Given the description of an element on the screen output the (x, y) to click on. 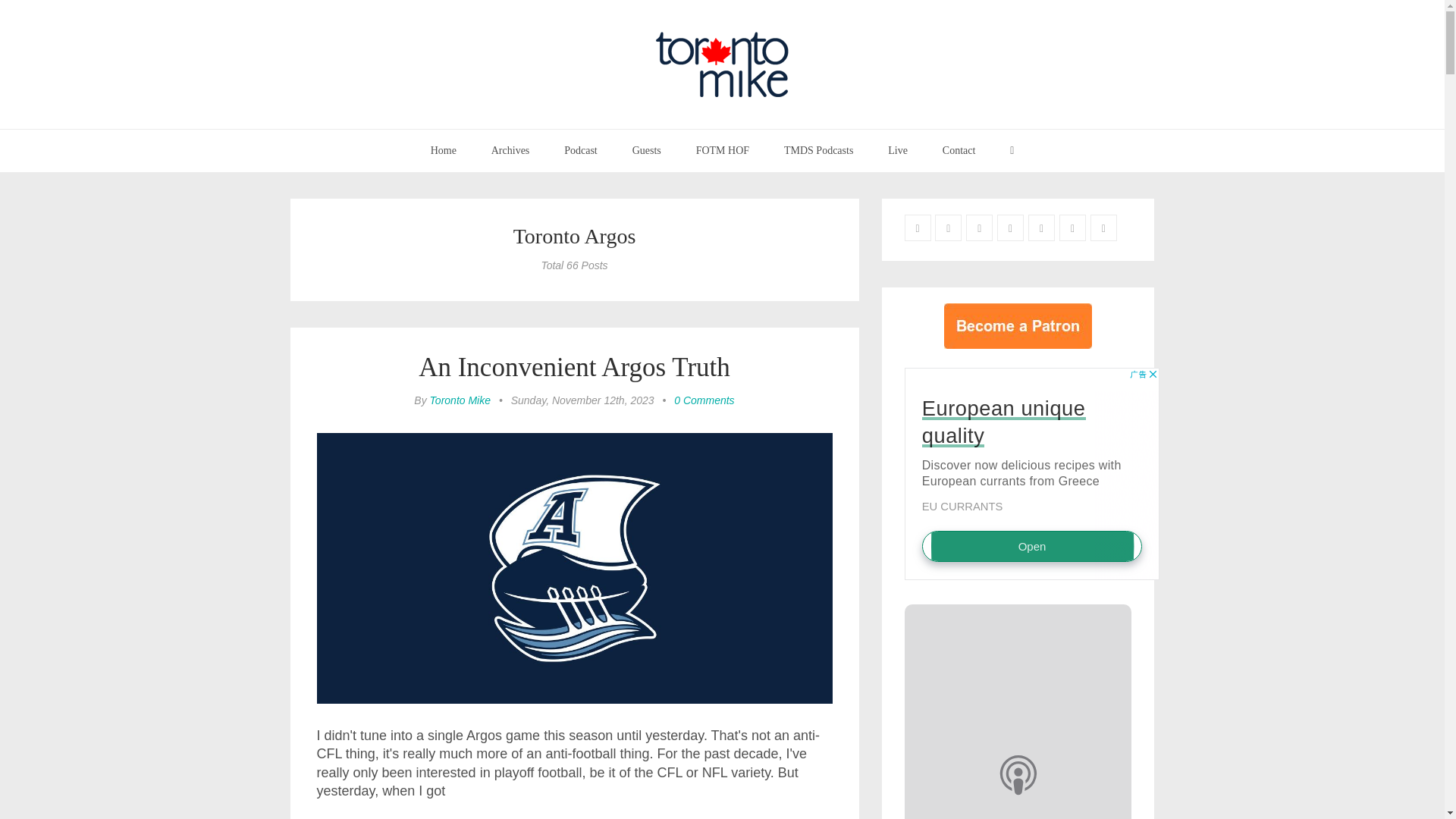
Advertisement (1031, 472)
Podcast (580, 150)
Toronto Mike (459, 399)
Guests (646, 150)
TMDS Podcasts (818, 150)
0 Comments (703, 399)
Contact (958, 150)
FOTM HOF (722, 150)
Archives (511, 150)
Home (442, 150)
Live (897, 150)
An Inconvenient Argos Truth (574, 367)
